Given the description of an element on the screen output the (x, y) to click on. 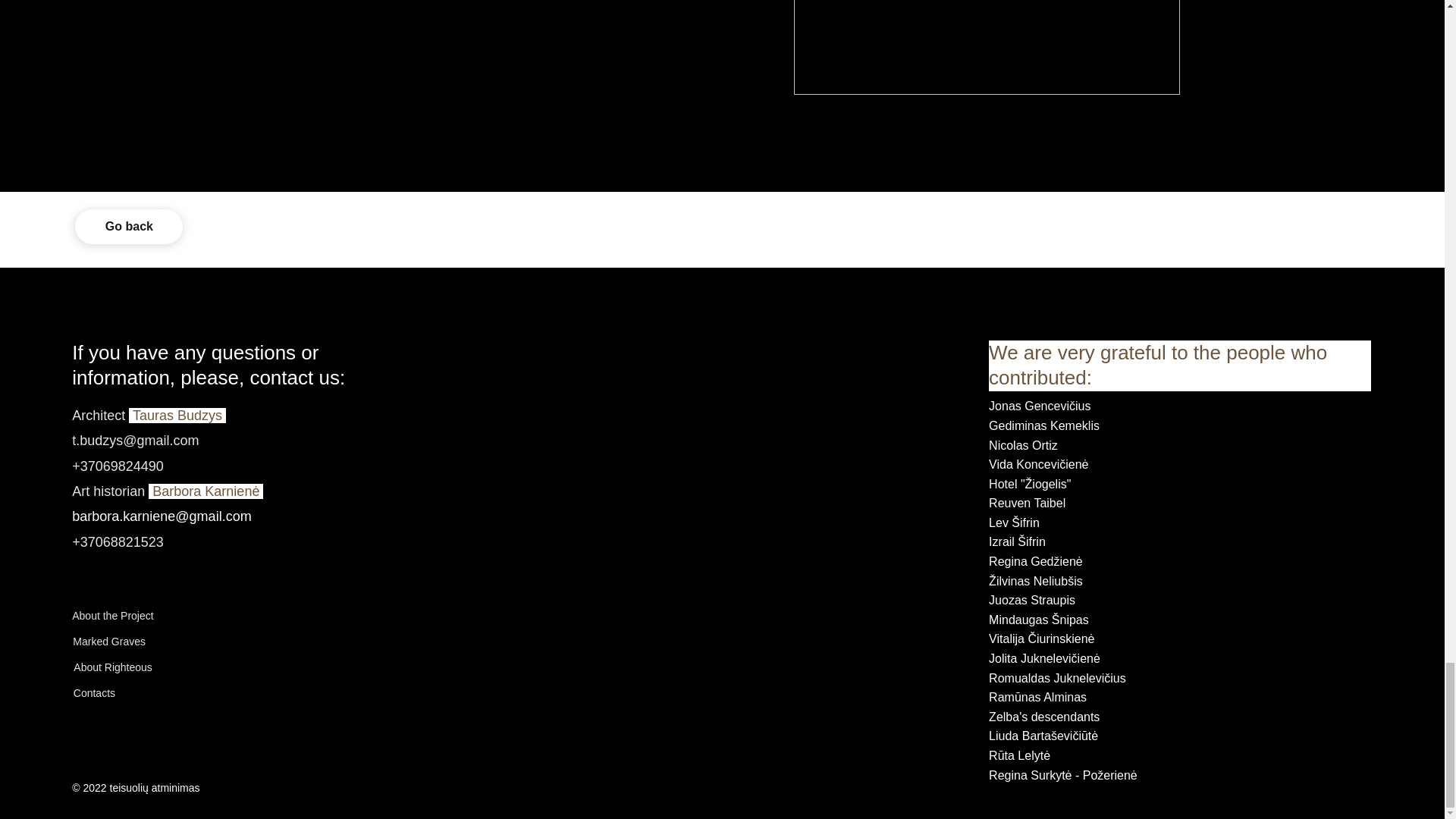
Marked Graves (108, 641)
Contacts (94, 693)
Go back (129, 226)
About the Project (111, 615)
About Righteous (113, 666)
